Given the description of an element on the screen output the (x, y) to click on. 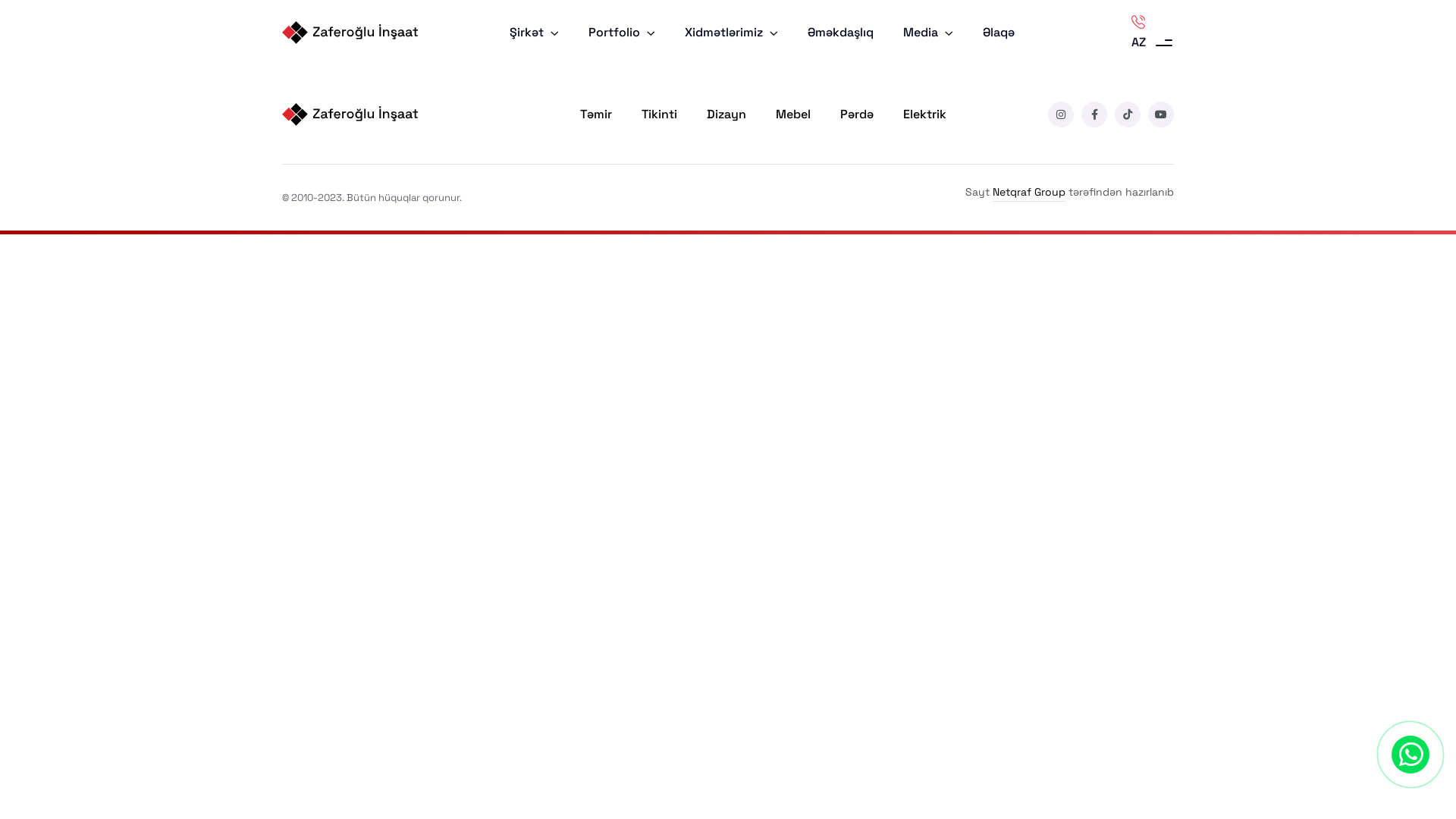
Portfolio Element type: text (621, 32)
AZ Element type: text (1151, 42)
Netqraf Group Element type: text (1028, 193)
Media Element type: text (928, 32)
Dizayn Element type: text (726, 114)
Mebel Element type: text (792, 114)
Tikinti Element type: text (659, 114)
Elektrik Element type: text (924, 114)
